Given the description of an element on the screen output the (x, y) to click on. 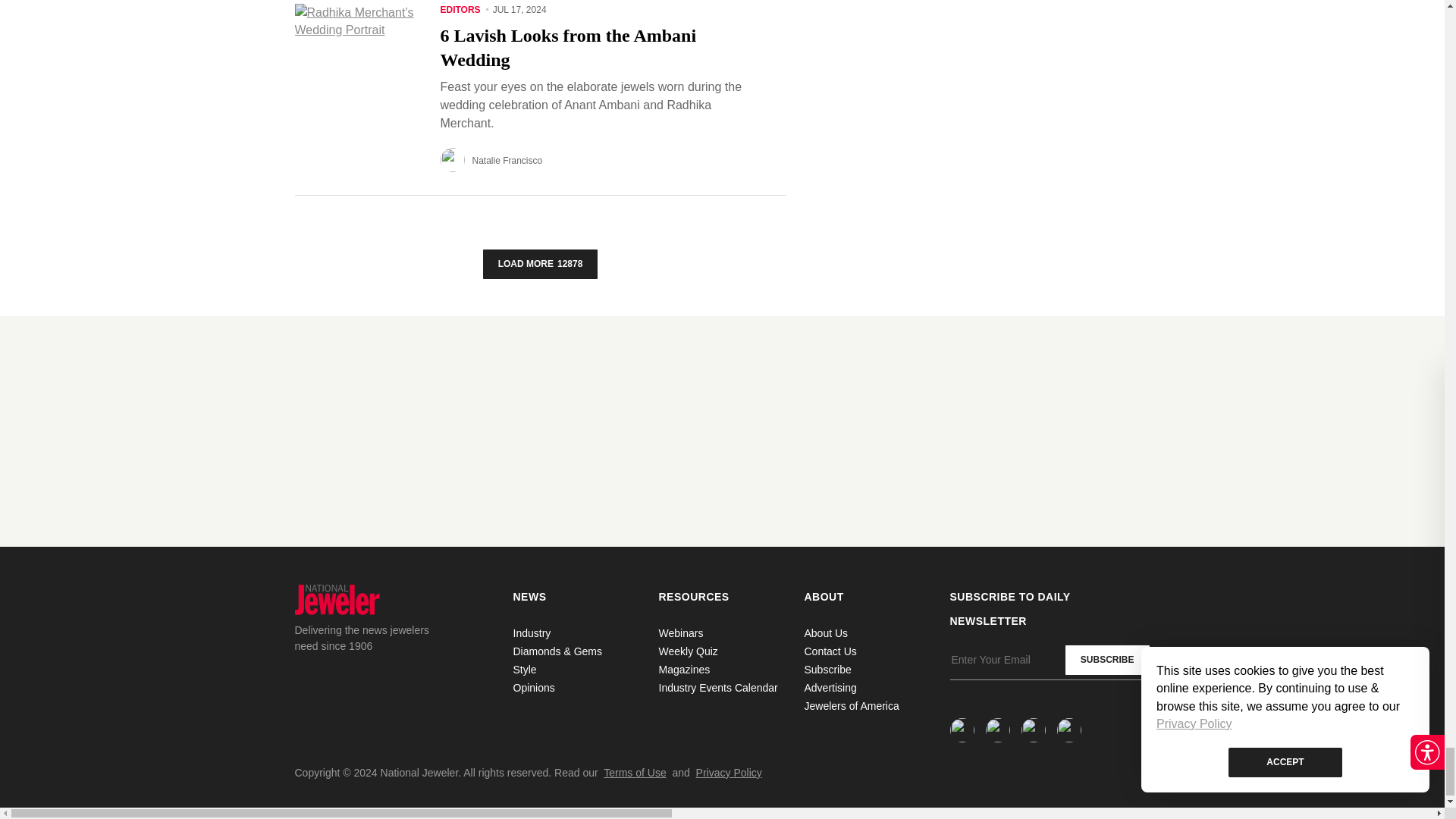
Subscribe (1107, 659)
